Given the description of an element on the screen output the (x, y) to click on. 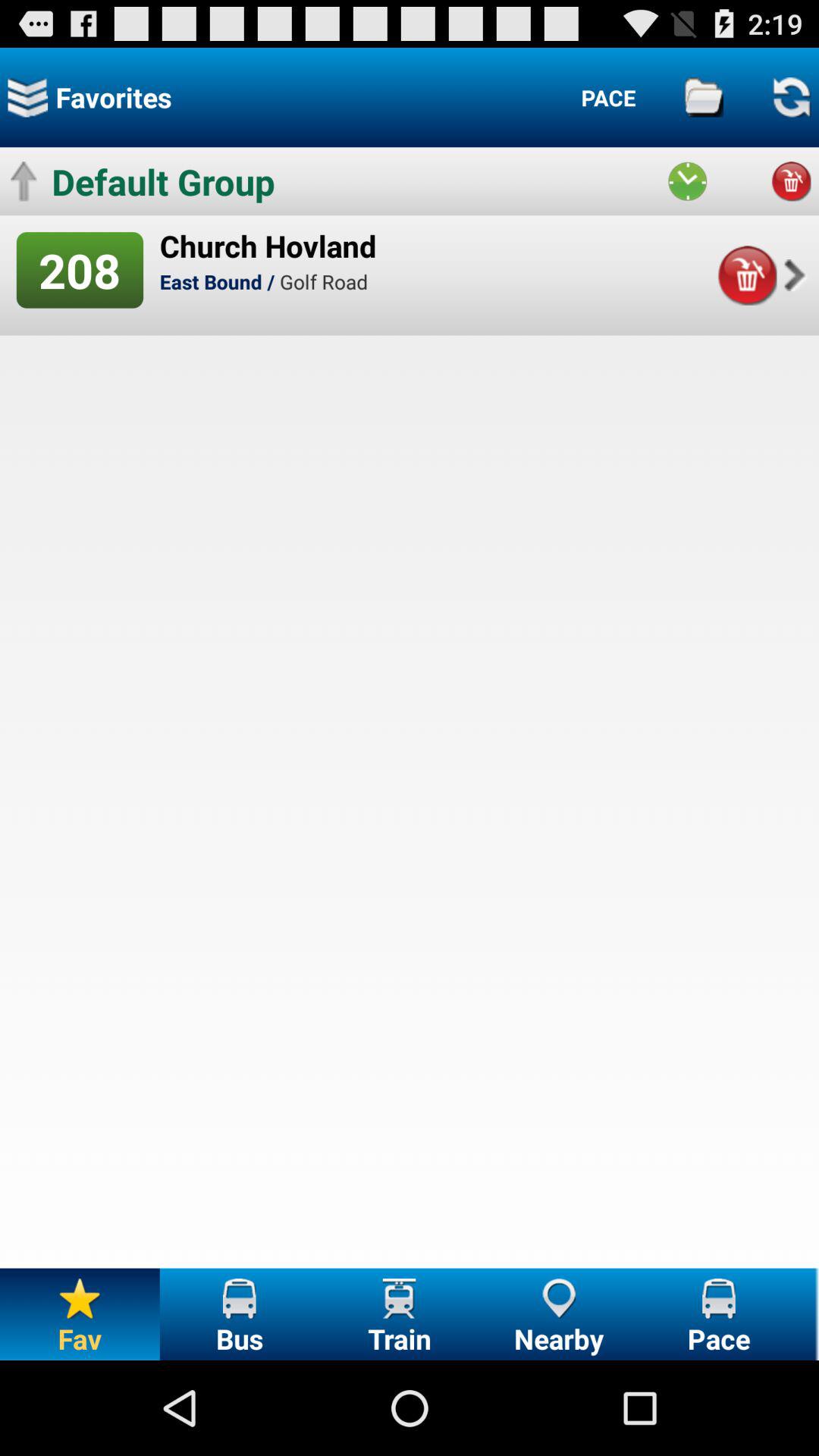
refresh page (791, 97)
